Given the description of an element on the screen output the (x, y) to click on. 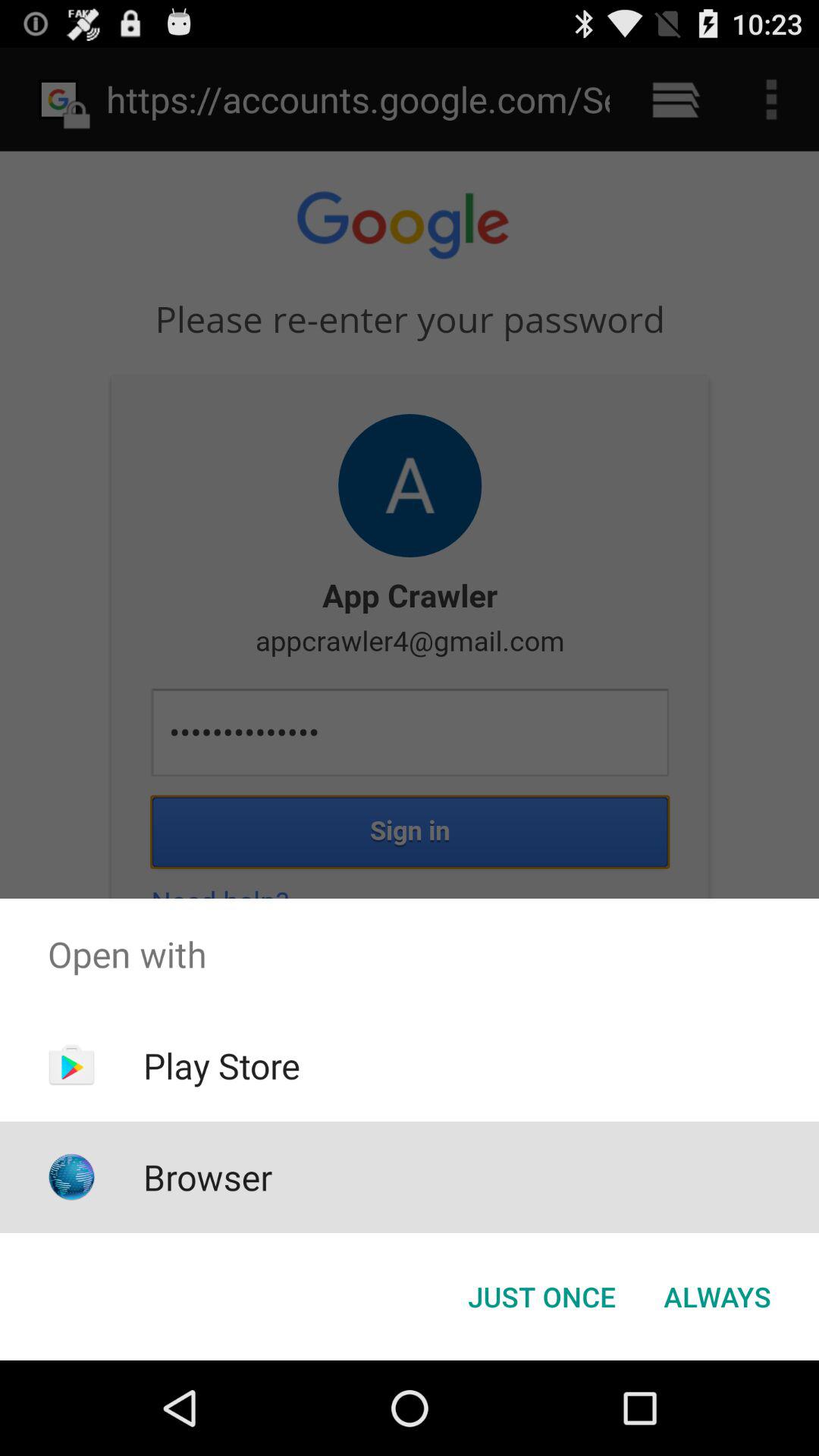
choose item to the left of the always item (541, 1296)
